Given the description of an element on the screen output the (x, y) to click on. 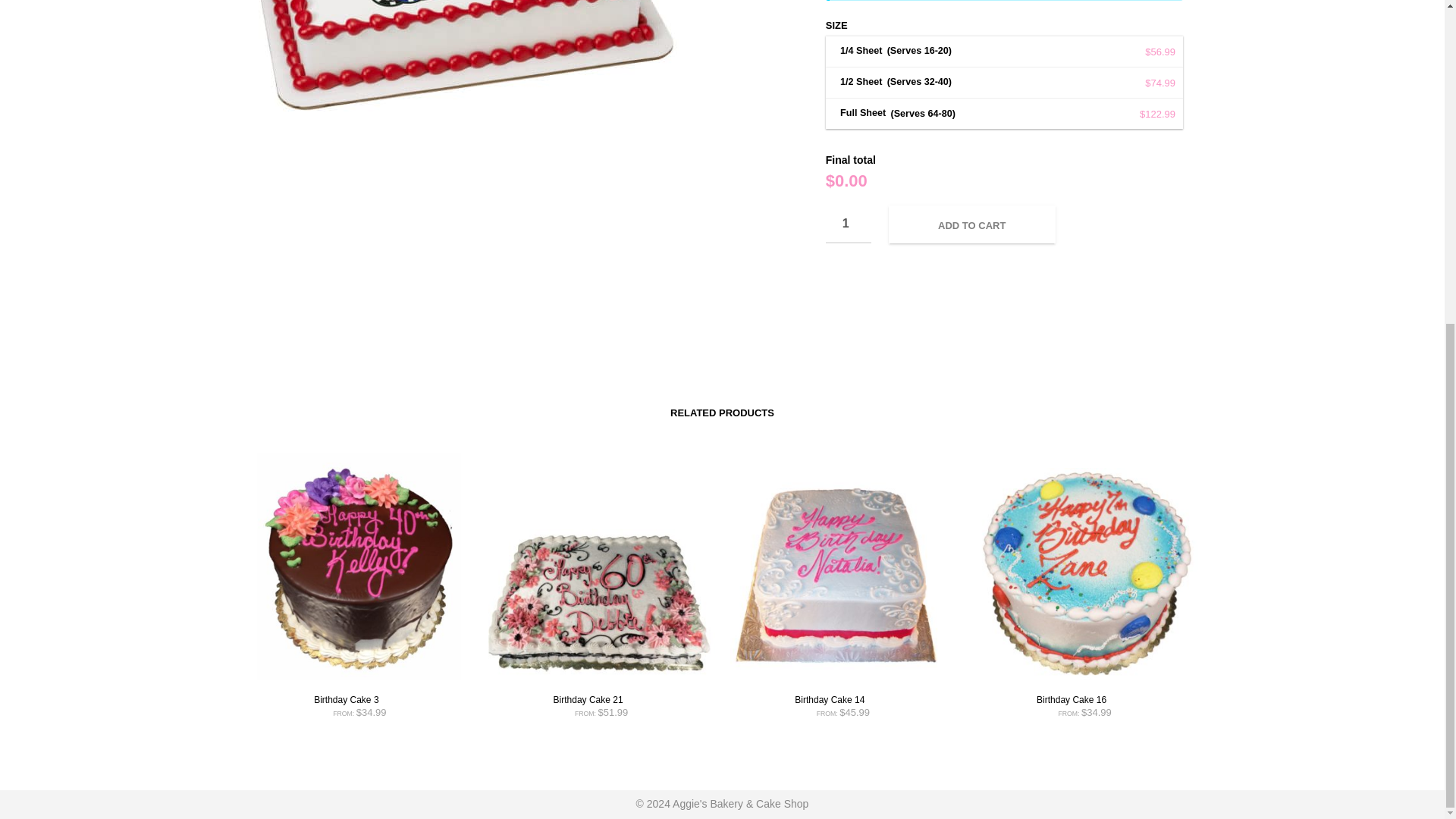
1 (847, 224)
Qty (847, 224)
high roller (462, 101)
